Given the description of an element on the screen output the (x, y) to click on. 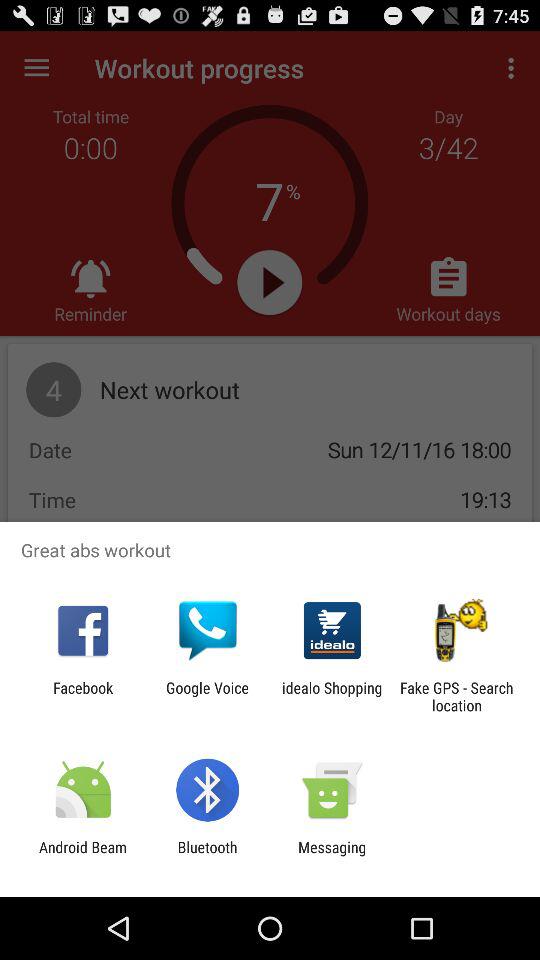
select the item to the left of bluetooth app (83, 856)
